Given the description of an element on the screen output the (x, y) to click on. 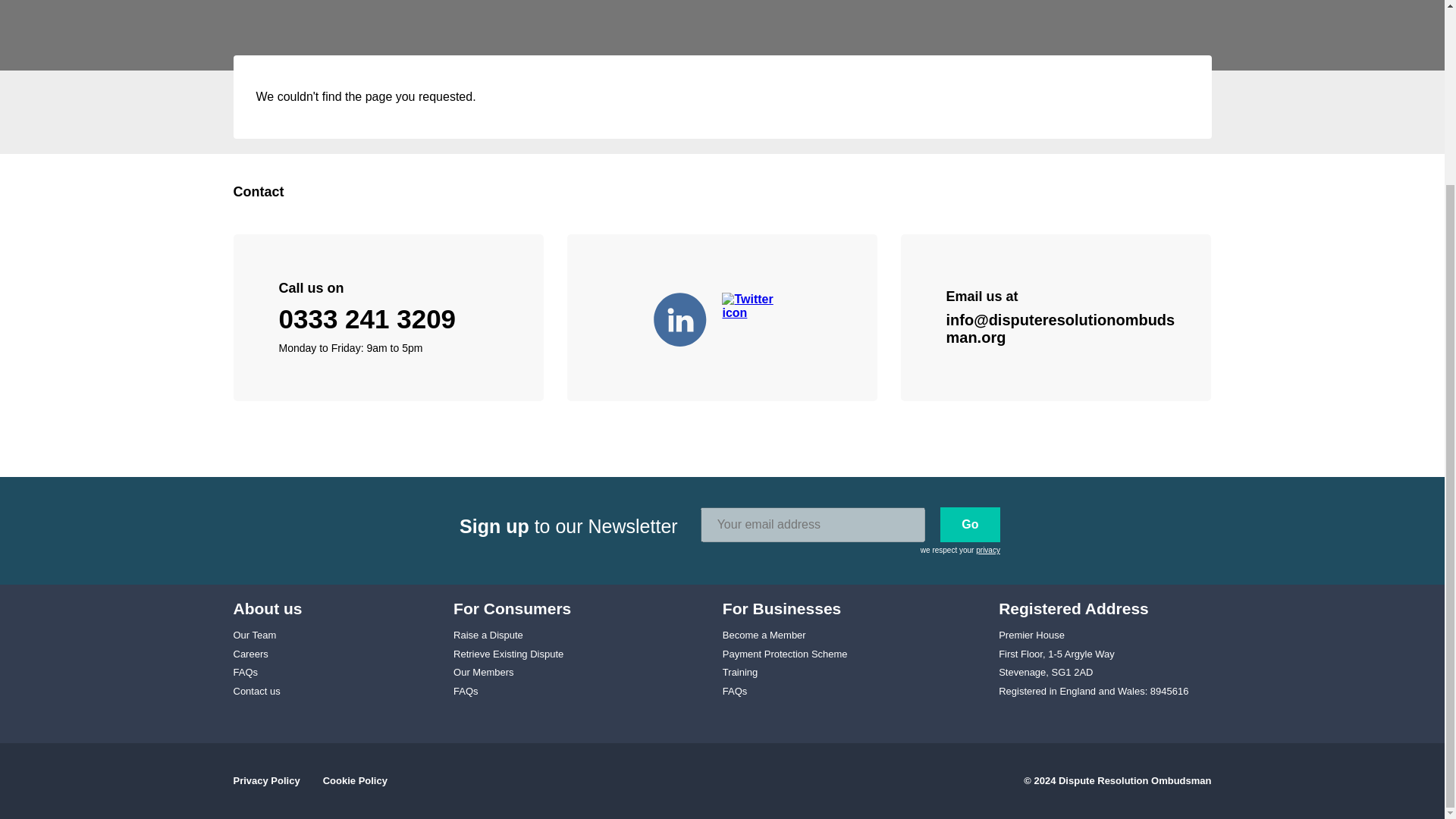
0333 241 3209 (368, 318)
Follow us on Twitter (756, 317)
Follow us on Linkedin (687, 317)
